Given the description of an element on the screen output the (x, y) to click on. 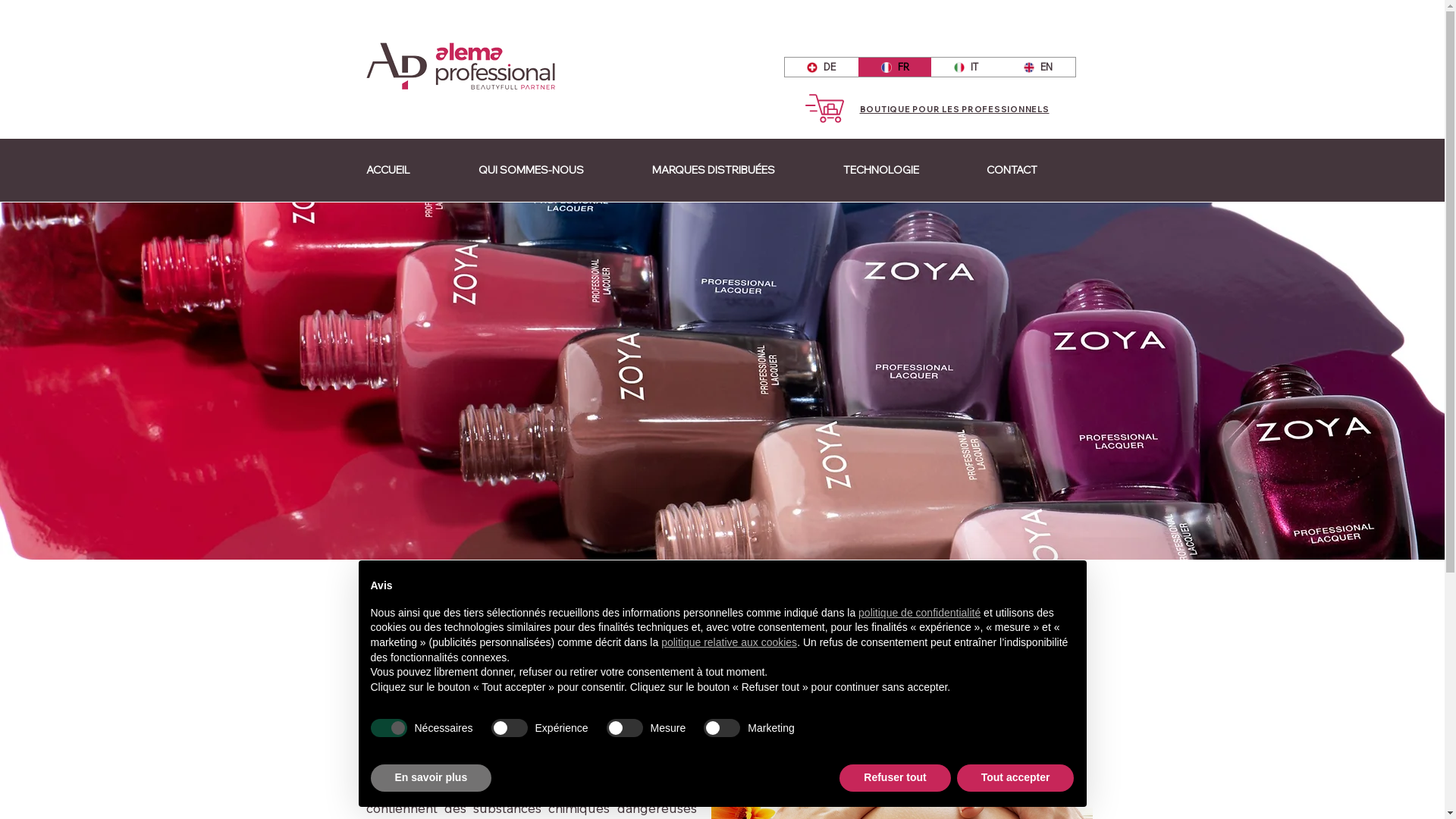
En savoir plus Element type: text (430, 777)
FR Element type: text (894, 66)
CONTACT Element type: text (1034, 169)
IT Element type: text (966, 66)
politique relative aux cookies Element type: text (729, 642)
TECHNOLOGIE Element type: text (902, 169)
Tout accepter Element type: text (1015, 777)
DE Element type: text (820, 66)
Refuser tout Element type: text (894, 777)
QUI SOMMES-NOUS Element type: text (553, 169)
BOUTIQUE POUR LES PROFESSIONNELS Element type: text (954, 108)
ACCUEIL Element type: text (410, 169)
EN Element type: text (1038, 66)
